Given the description of an element on the screen output the (x, y) to click on. 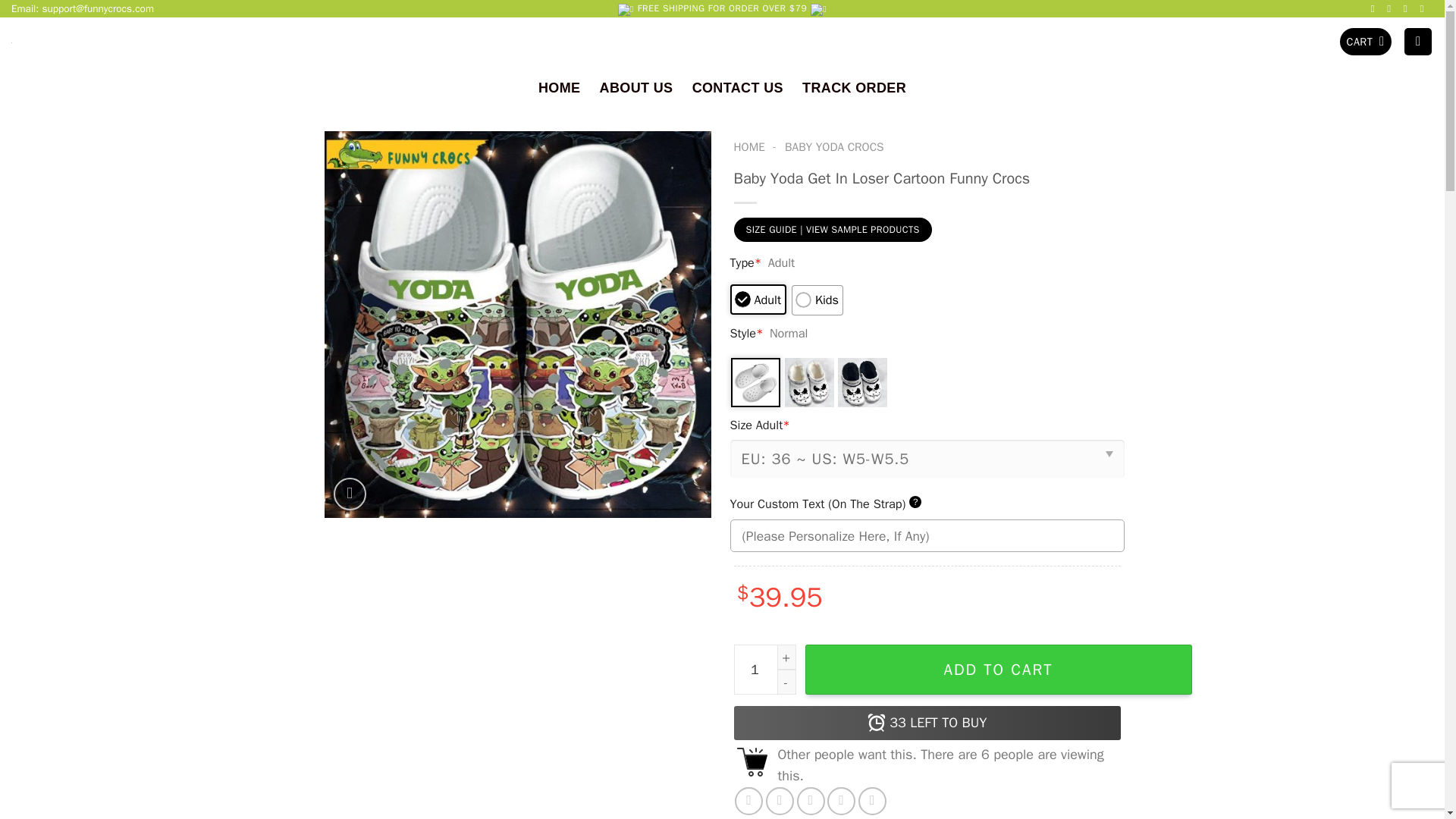
Follow on Facebook (1376, 8)
CONTACT US (738, 87)
Zoom (349, 494)
Cart (1365, 41)
HOME (749, 146)
BABY YODA CROCS (833, 146)
Follow on LinkedIn (1424, 8)
Follow on Pinterest (1408, 8)
